Given the description of an element on the screen output the (x, y) to click on. 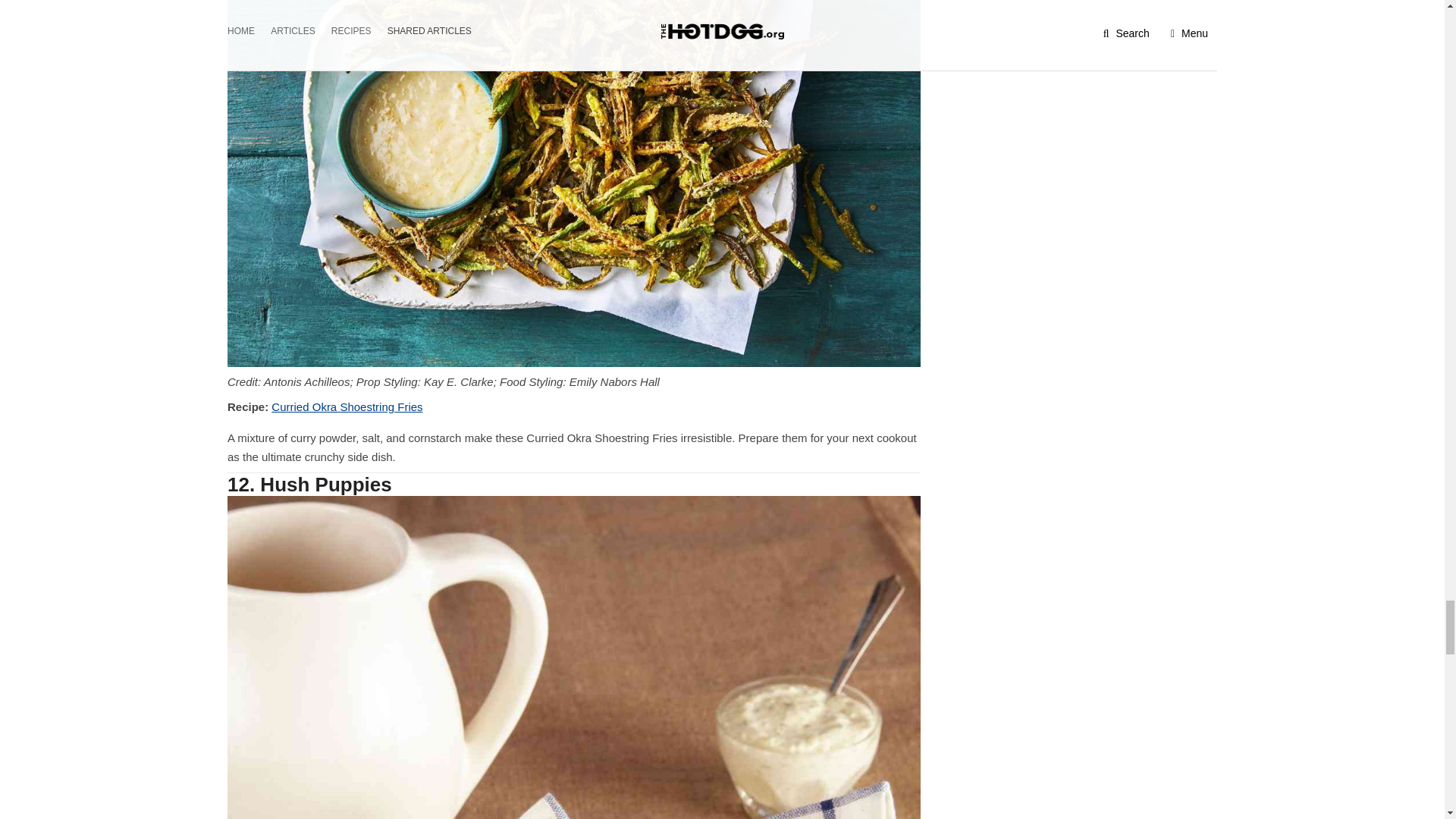
Curried Okra Shoestring Fries (346, 406)
